Given the description of an element on the screen output the (x, y) to click on. 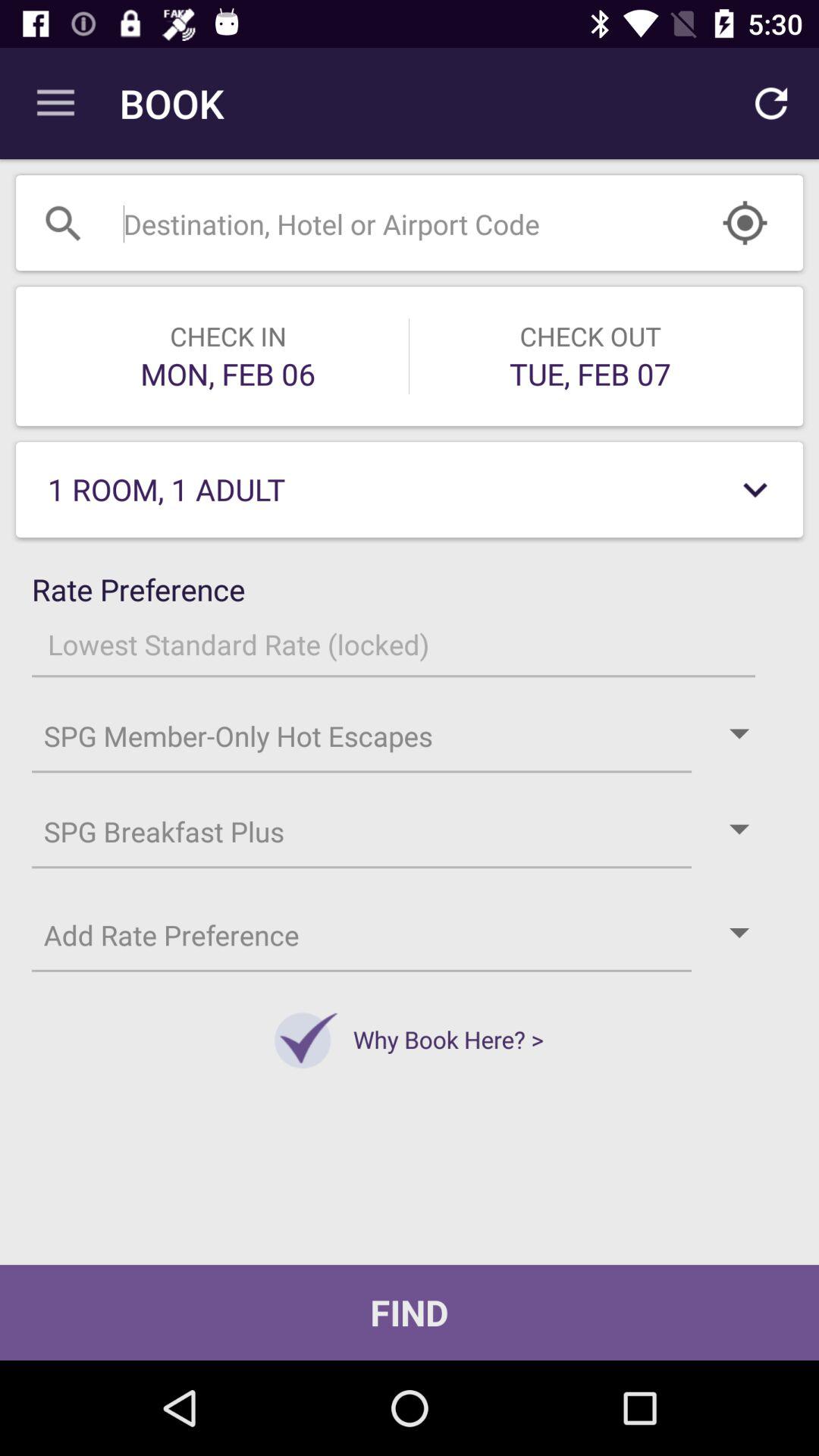
type text (370, 222)
